Given the description of an element on the screen output the (x, y) to click on. 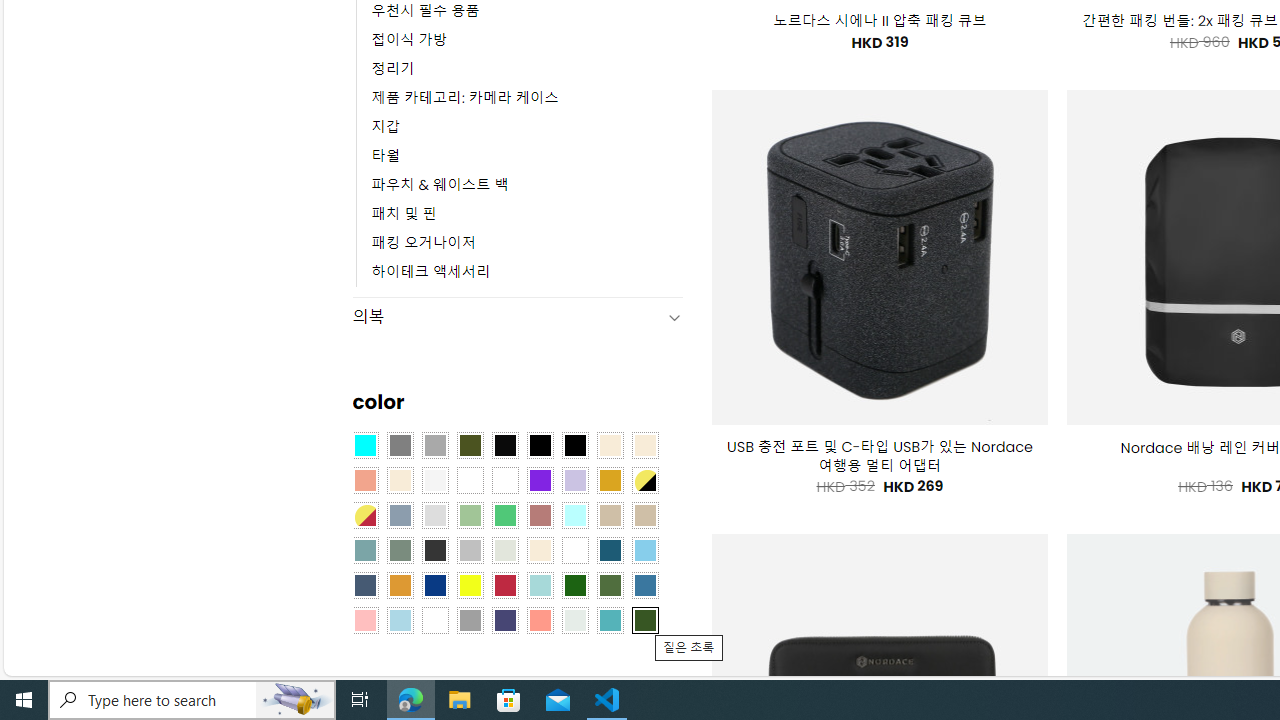
Cream (399, 480)
Coral (364, 480)
Purple (539, 480)
